Given the description of an element on the screen output the (x, y) to click on. 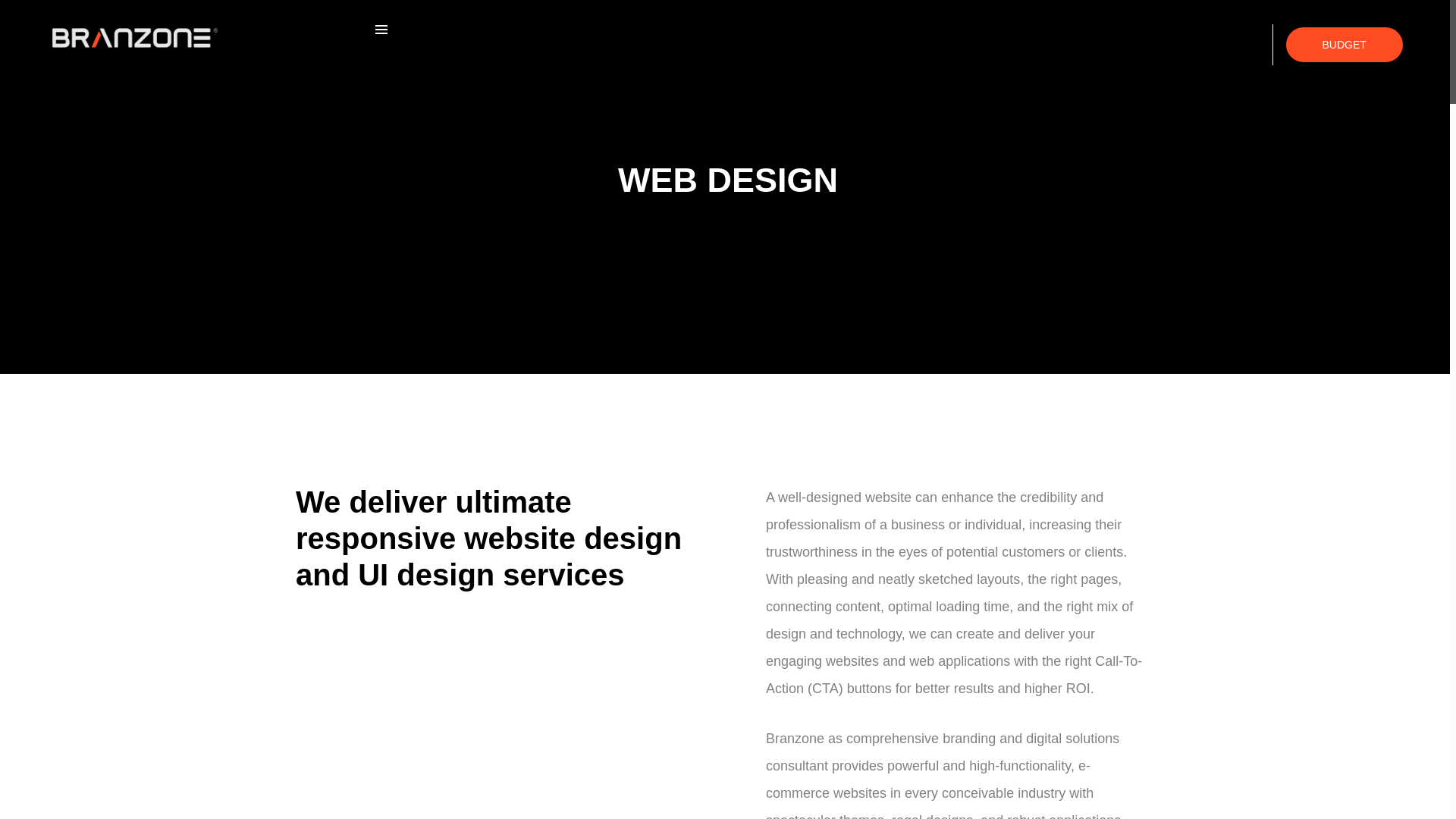
BUDGET (1344, 44)
Branzone (134, 37)
BUDGET (1344, 43)
